Given the description of an element on the screen output the (x, y) to click on. 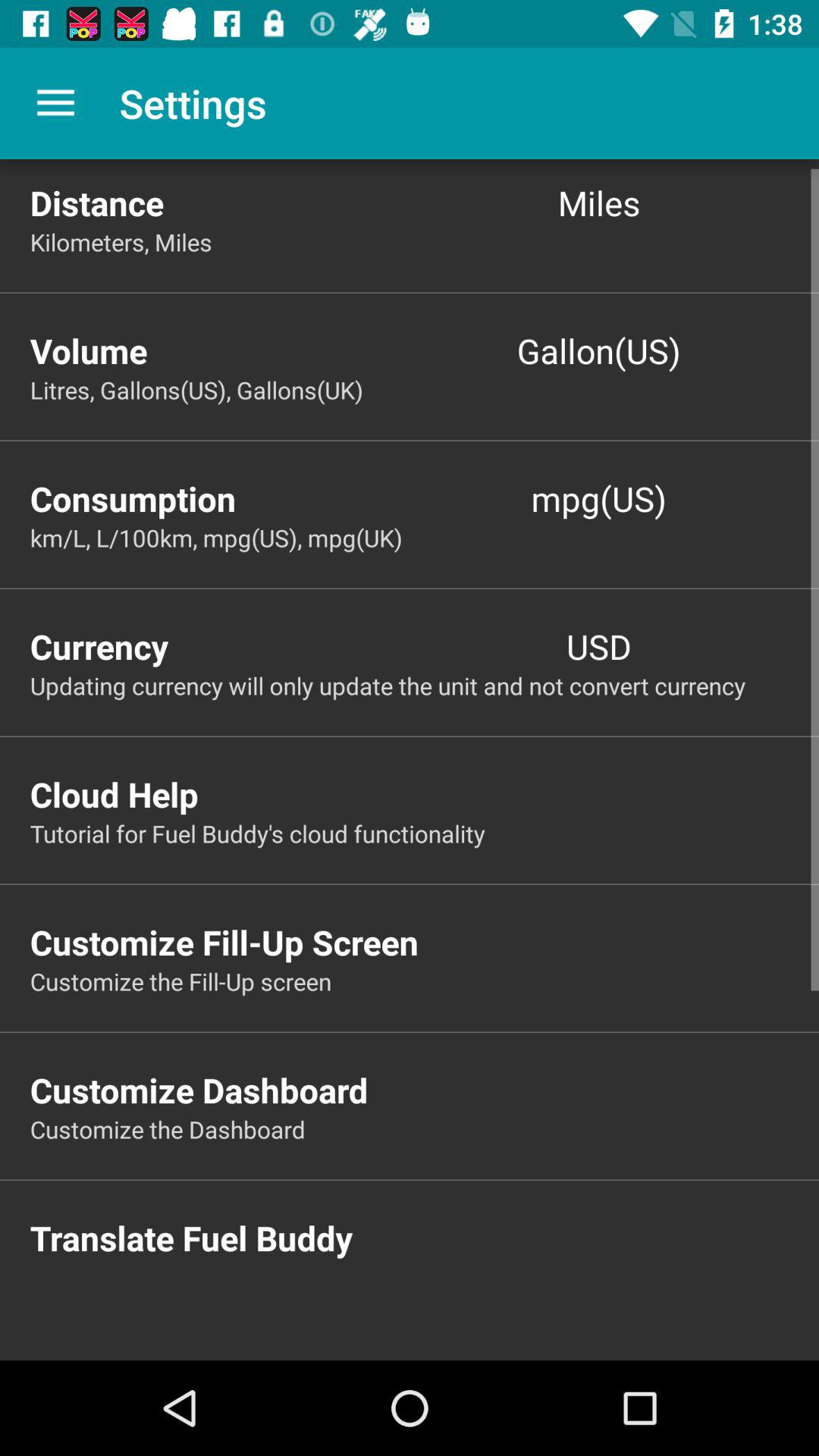
swipe to the litres gallons us (424, 389)
